Given the description of an element on the screen output the (x, y) to click on. 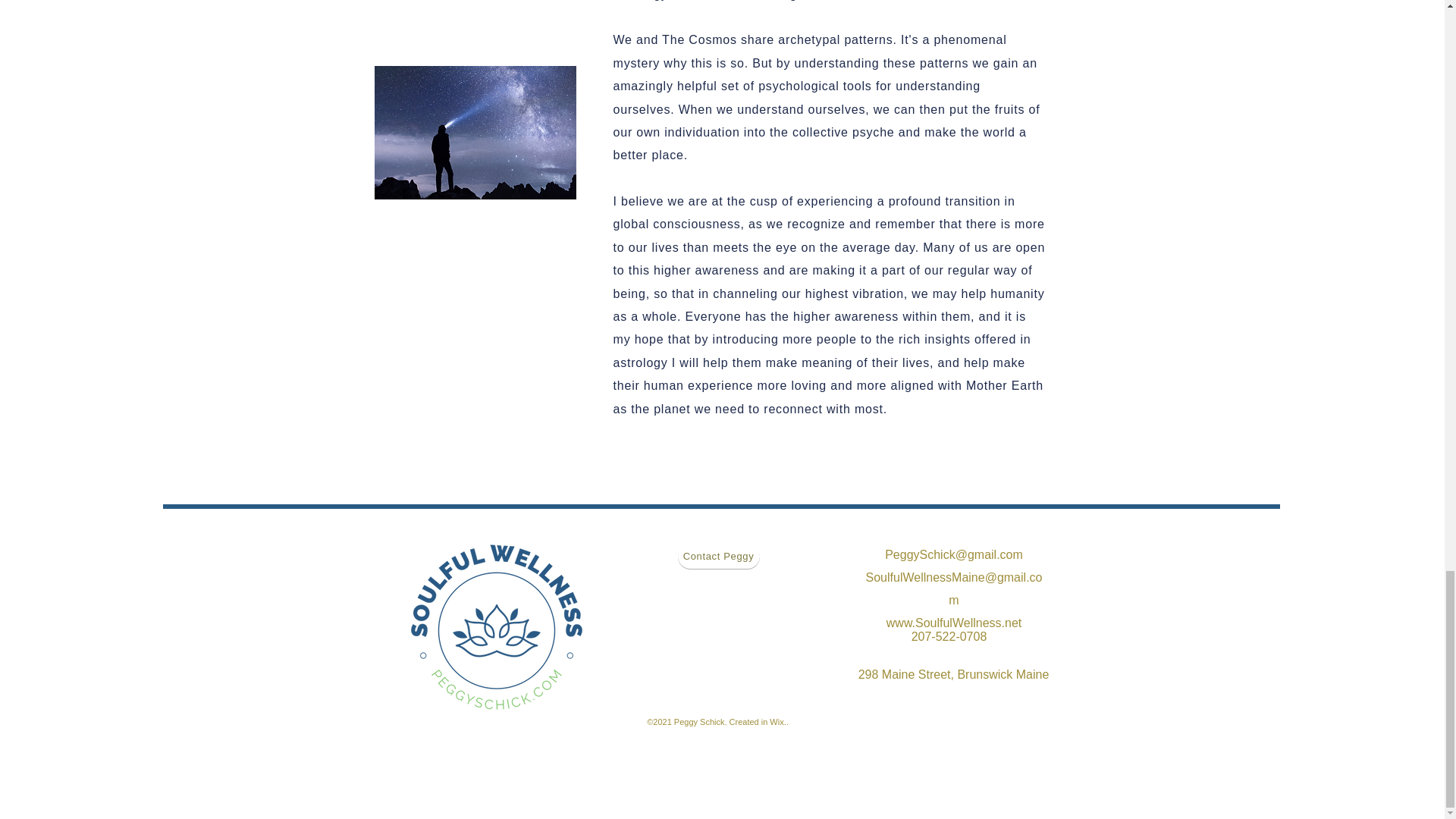
Contact Peggy (719, 555)
www.SoulfulWellness.net (954, 622)
